Given the description of an element on the screen output the (x, y) to click on. 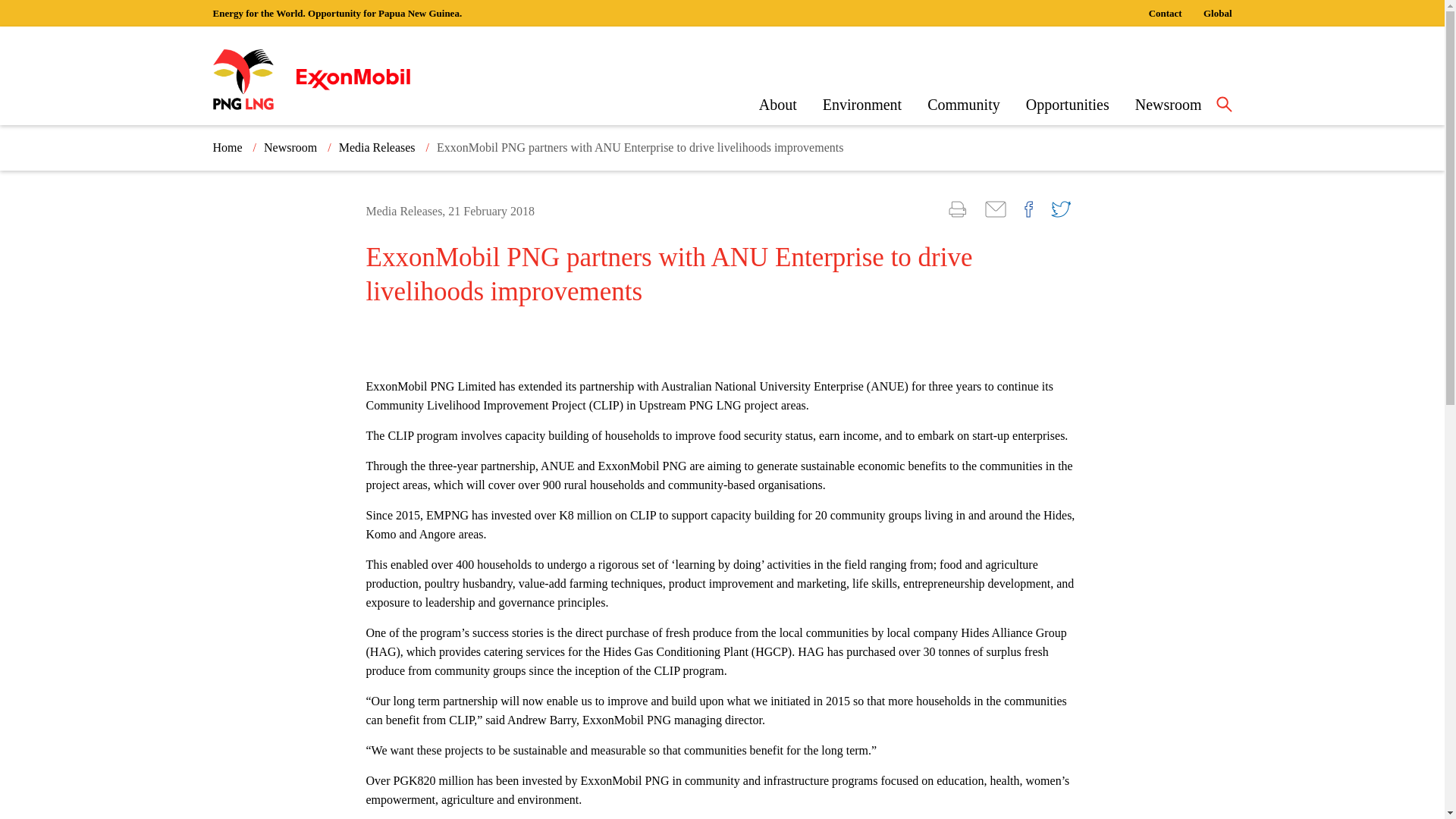
About (777, 104)
Global (1217, 12)
Environment (861, 104)
Contact (1165, 12)
